Given the description of an element on the screen output the (x, y) to click on. 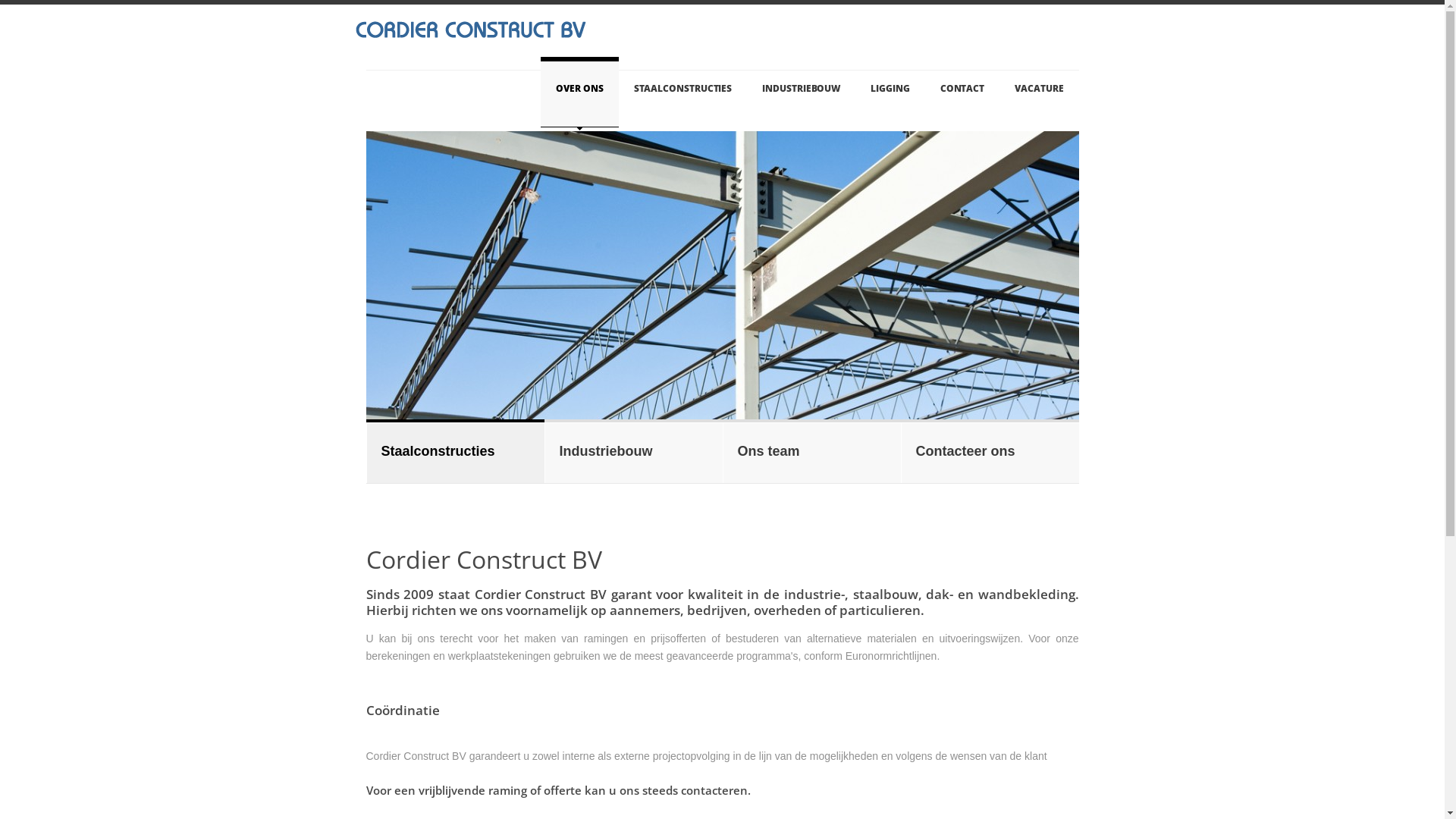
VACATURE Element type: text (1038, 91)
OVER ONS Element type: text (579, 91)
STAALCONSTRUCTIES Element type: text (682, 91)
LIGGING Element type: text (889, 91)
CONTACT Element type: text (962, 91)
INDUSTRIEBOUW Element type: text (800, 91)
